Given the description of an element on the screen output the (x, y) to click on. 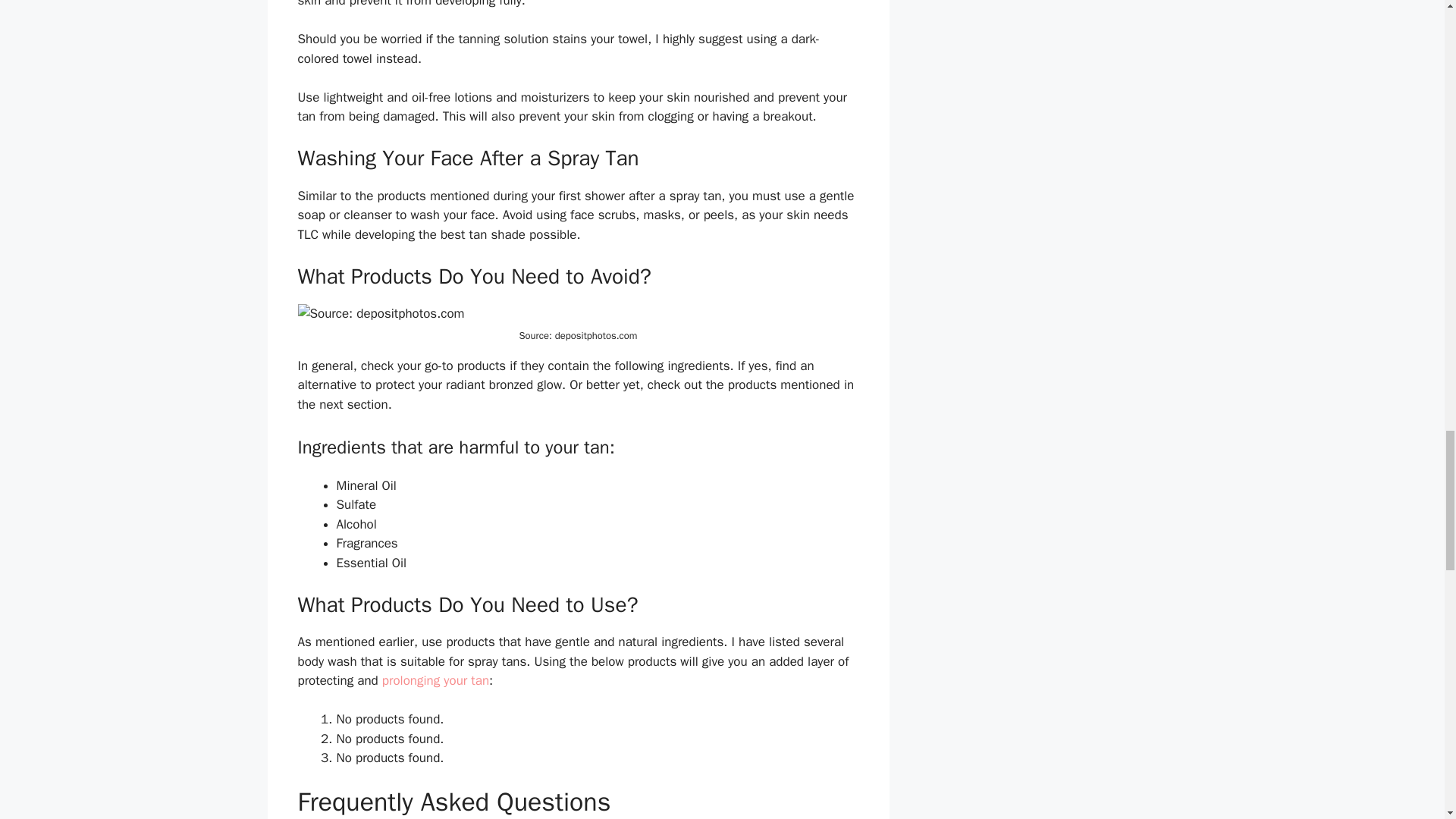
prolonging your tan (435, 680)
